Given the description of an element on the screen output the (x, y) to click on. 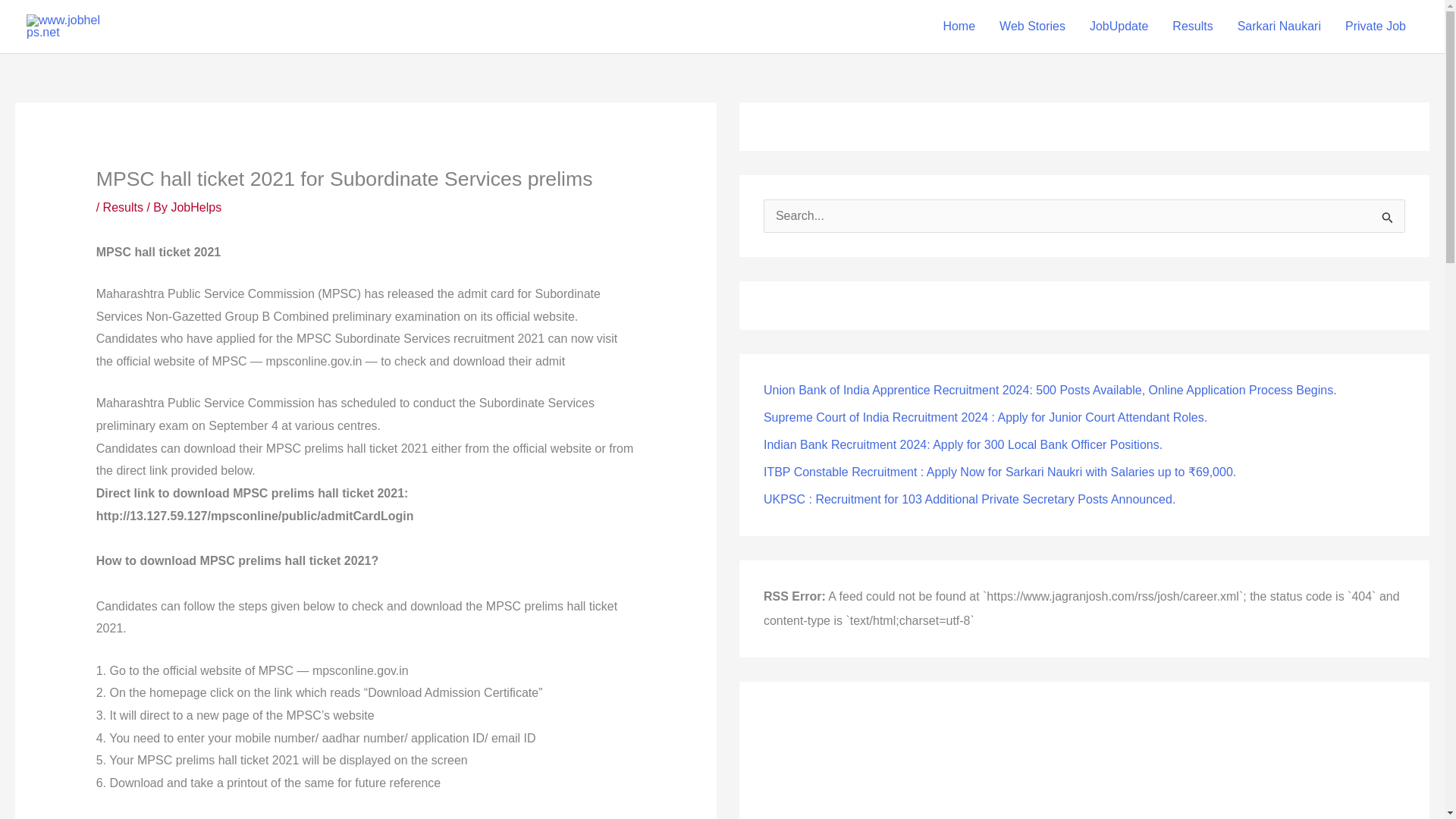
Home (958, 26)
Results (1192, 26)
View all posts by JobHelps (195, 206)
Web Stories (1032, 26)
JobHelps (195, 206)
Results (122, 206)
JobUpdate (1118, 26)
